Given the description of an element on the screen output the (x, y) to click on. 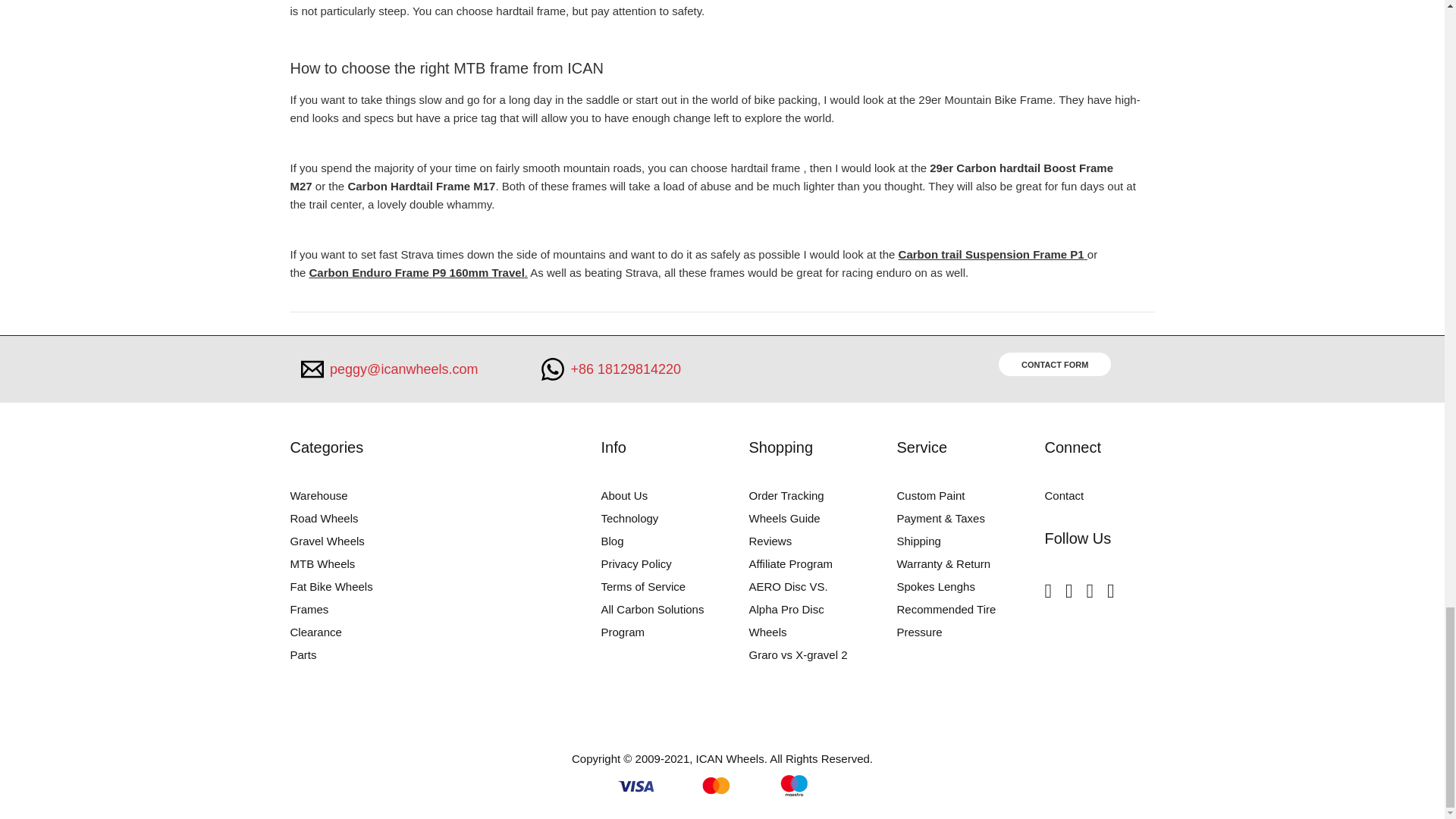
ICAN P9 (417, 272)
